Given the description of an element on the screen output the (x, y) to click on. 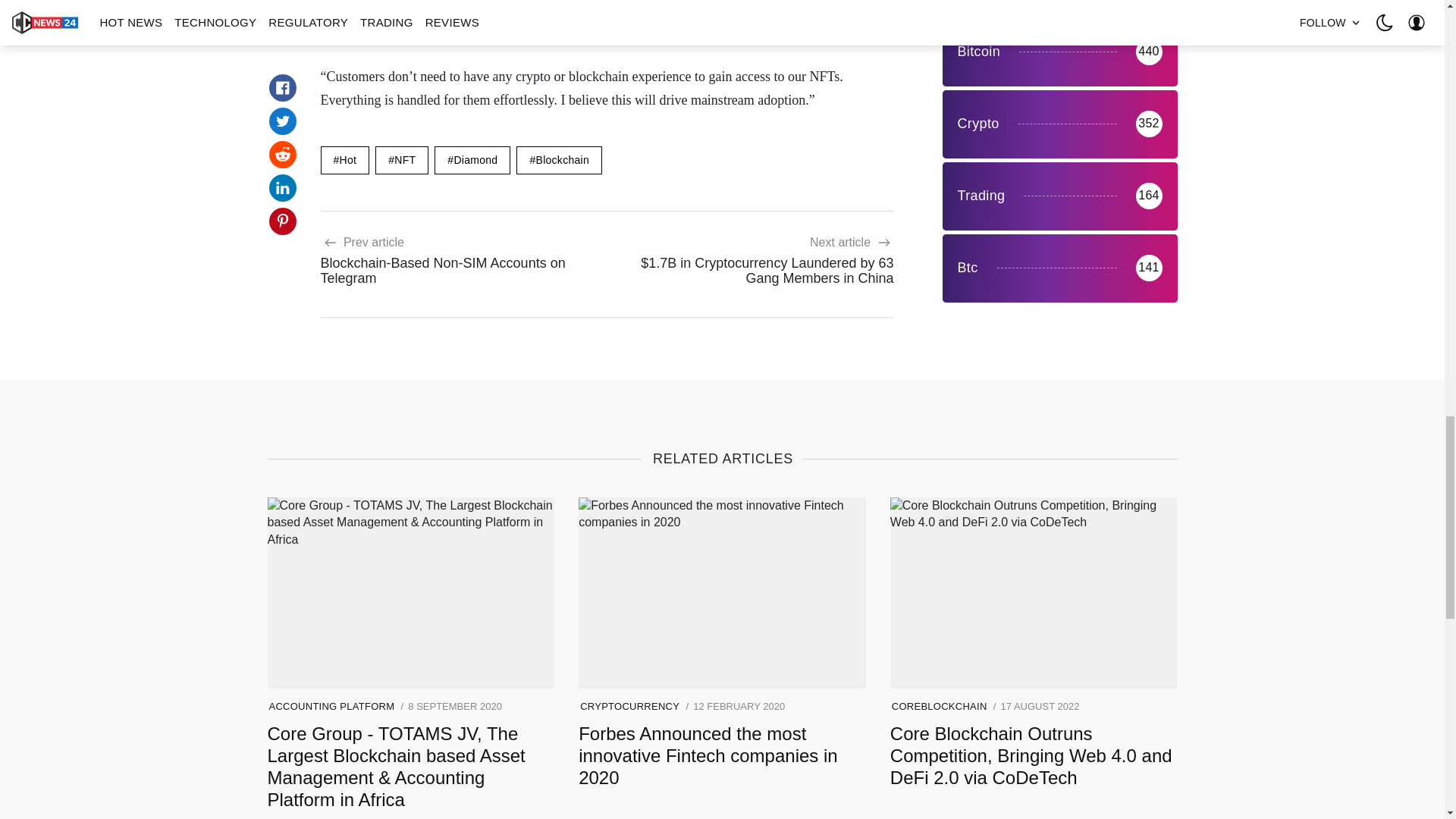
hot (344, 160)
Hot (344, 160)
blockchain (559, 160)
NFT (401, 160)
Blockchain (559, 160)
NFT (401, 160)
Diamond (472, 160)
diamond (457, 260)
